Given the description of an element on the screen output the (x, y) to click on. 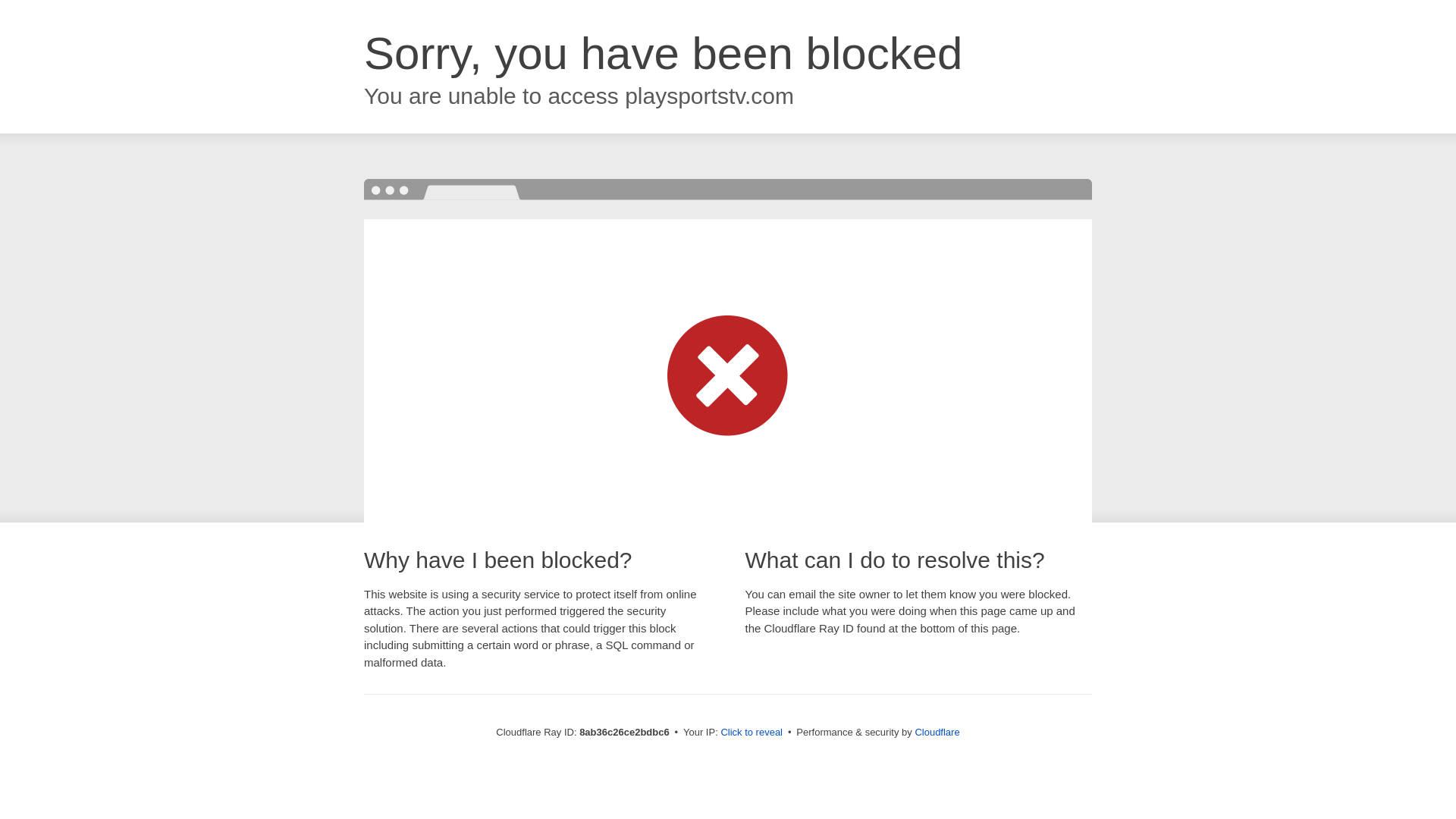
Cloudflare (936, 731)
Click to reveal (751, 732)
